Given the description of an element on the screen output the (x, y) to click on. 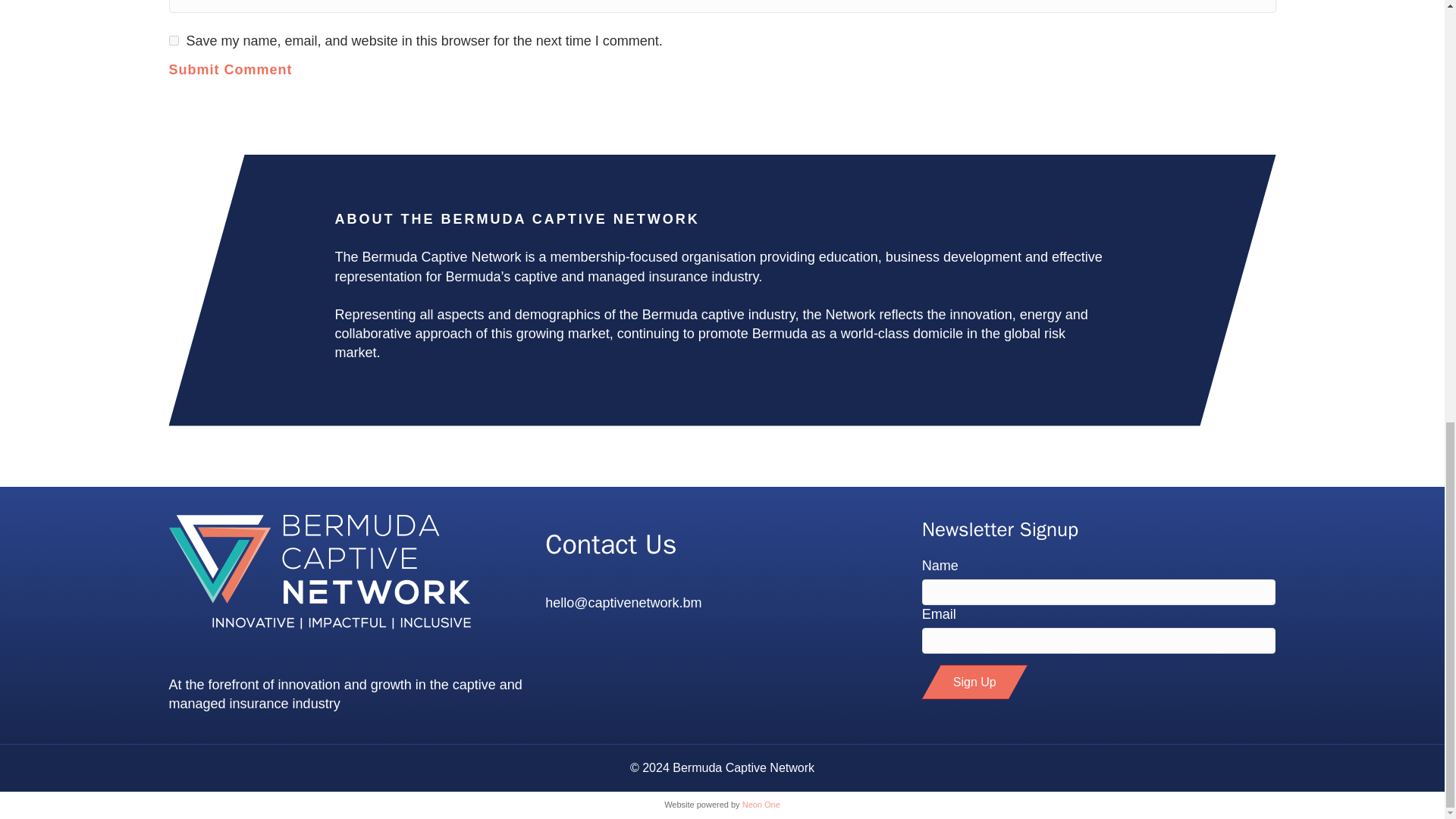
Neon One (761, 804)
Submit Comment (230, 89)
Sign Up (974, 682)
yes (172, 40)
Submit Comment (230, 89)
